Given the description of an element on the screen output the (x, y) to click on. 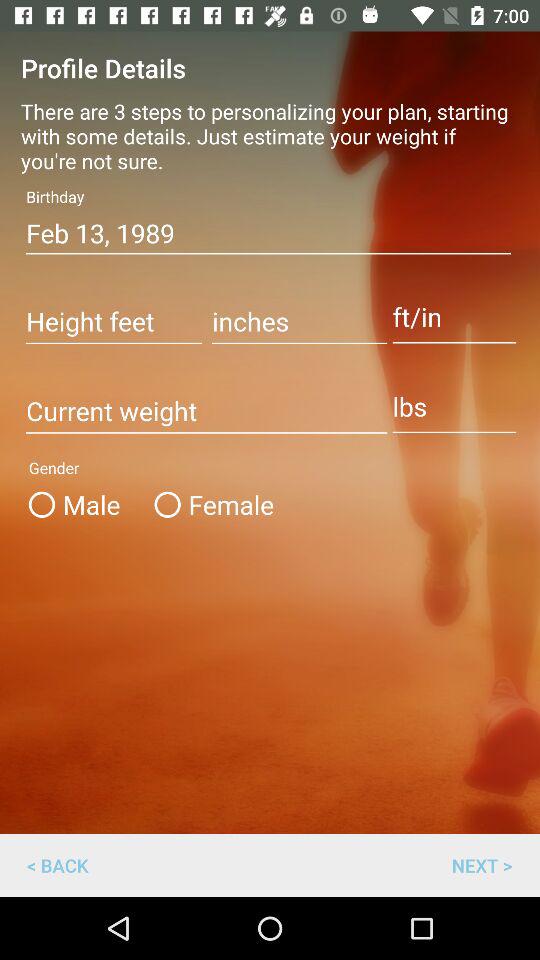
choose item next to the male (210, 504)
